Given the description of an element on the screen output the (x, y) to click on. 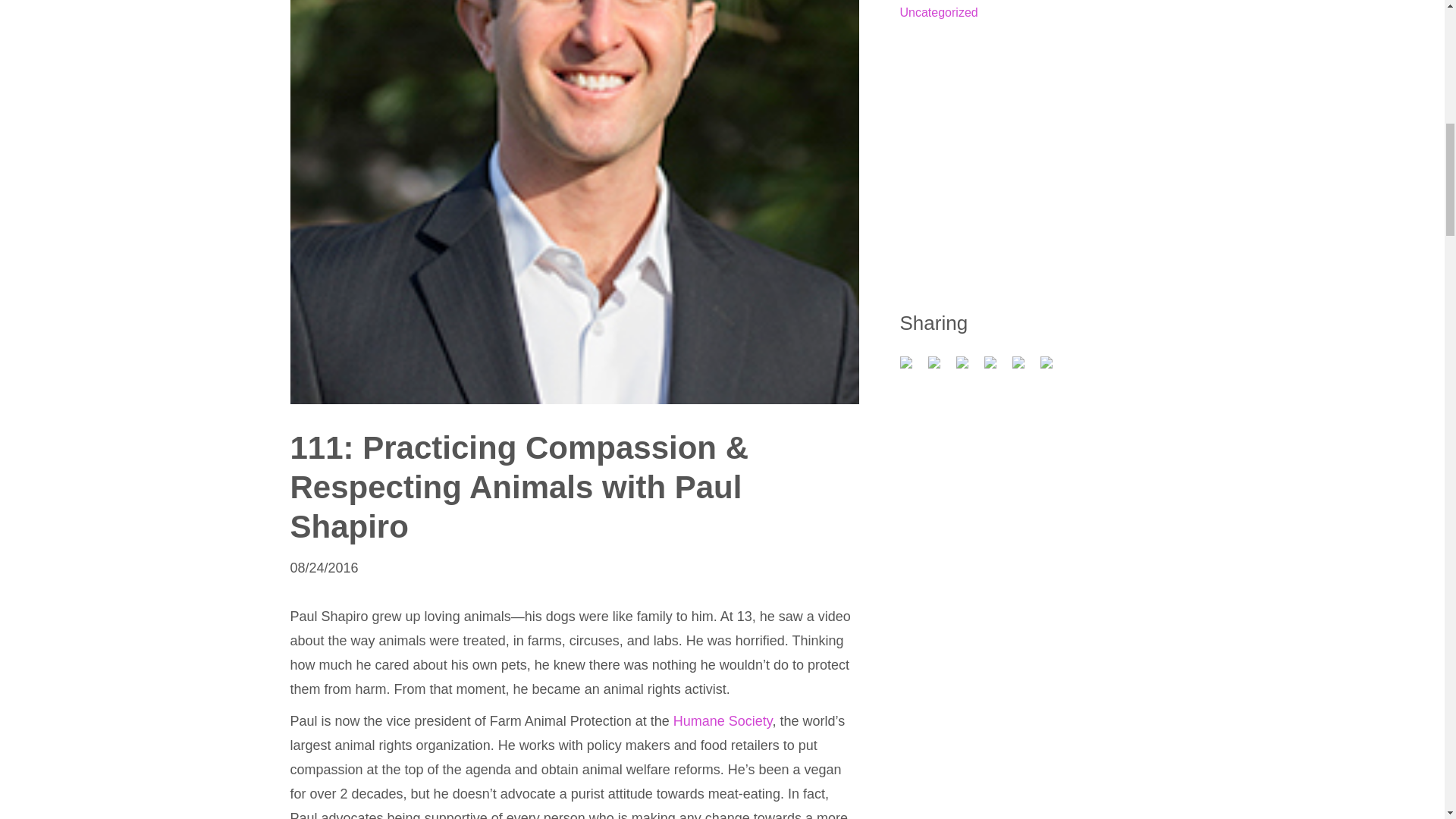
Share on Facebook (911, 368)
Share on Reddit (967, 368)
Share on Twitter (940, 368)
Humane Society (722, 720)
Share on Linkedin (1023, 368)
Pin it with Pinterest (996, 368)
Share by email (1052, 368)
